Given the description of an element on the screen output the (x, y) to click on. 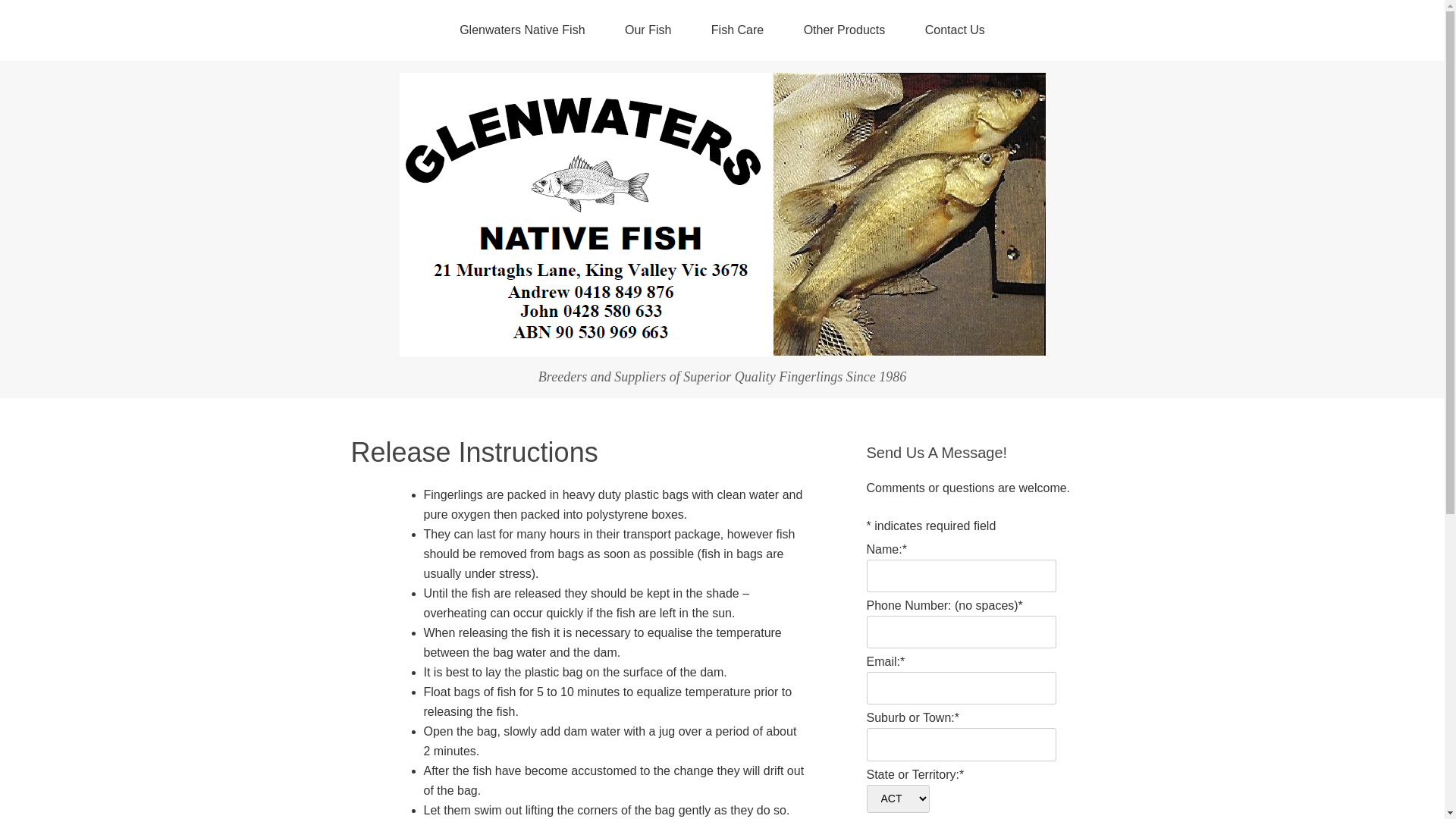
Glenwaters Native Fish Element type: hover (721, 344)
Fish Care Element type: text (737, 30)
Our Fish Element type: text (647, 30)
Glenwaters Native Fish Element type: text (521, 30)
Other Products Element type: text (844, 30)
Contact Us Element type: text (954, 30)
